Given the description of an element on the screen output the (x, y) to click on. 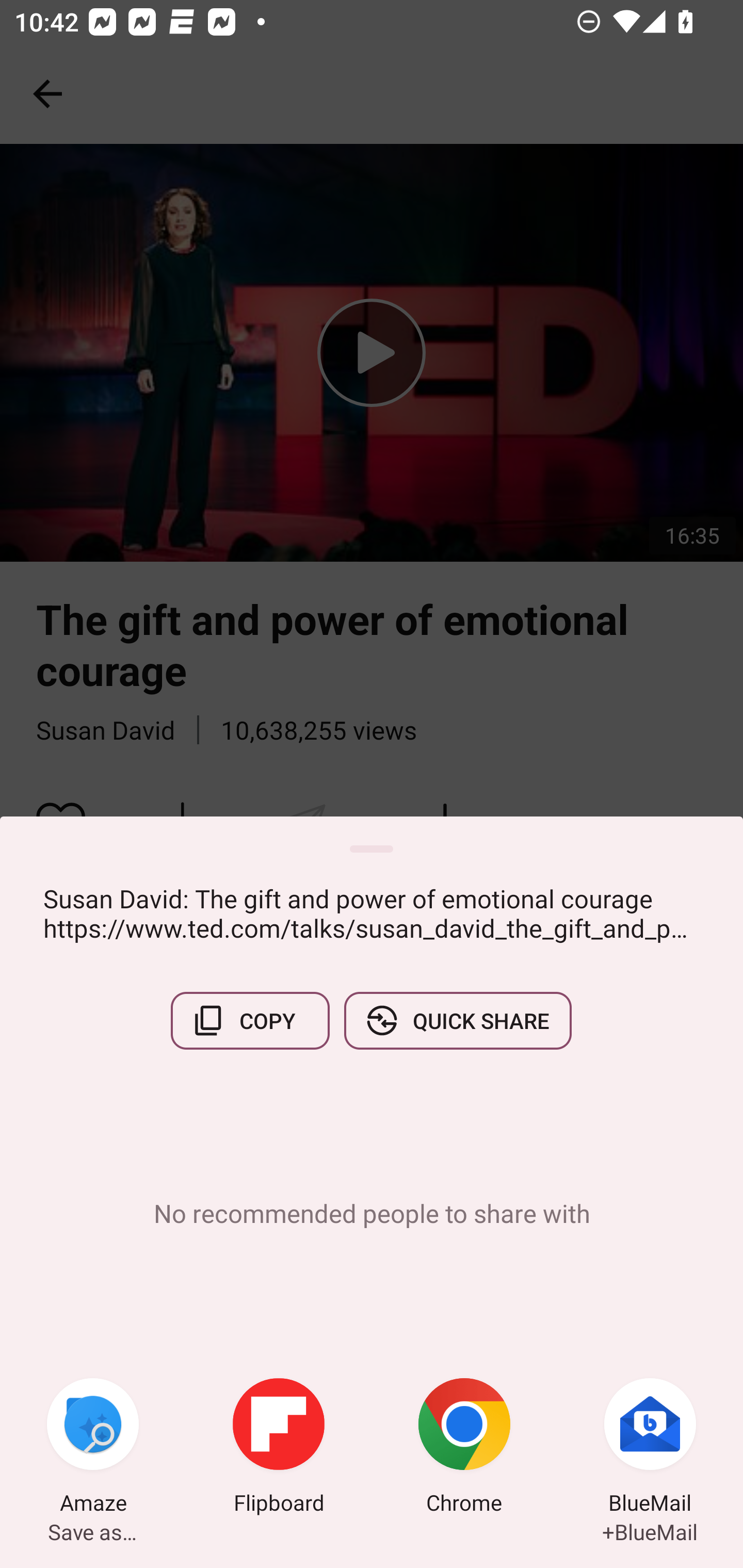
COPY (249, 1020)
QUICK SHARE (457, 1020)
Amaze Save as… (92, 1448)
Flipboard (278, 1448)
Chrome (464, 1448)
BlueMail +BlueMail (650, 1448)
